Given the description of an element on the screen output the (x, y) to click on. 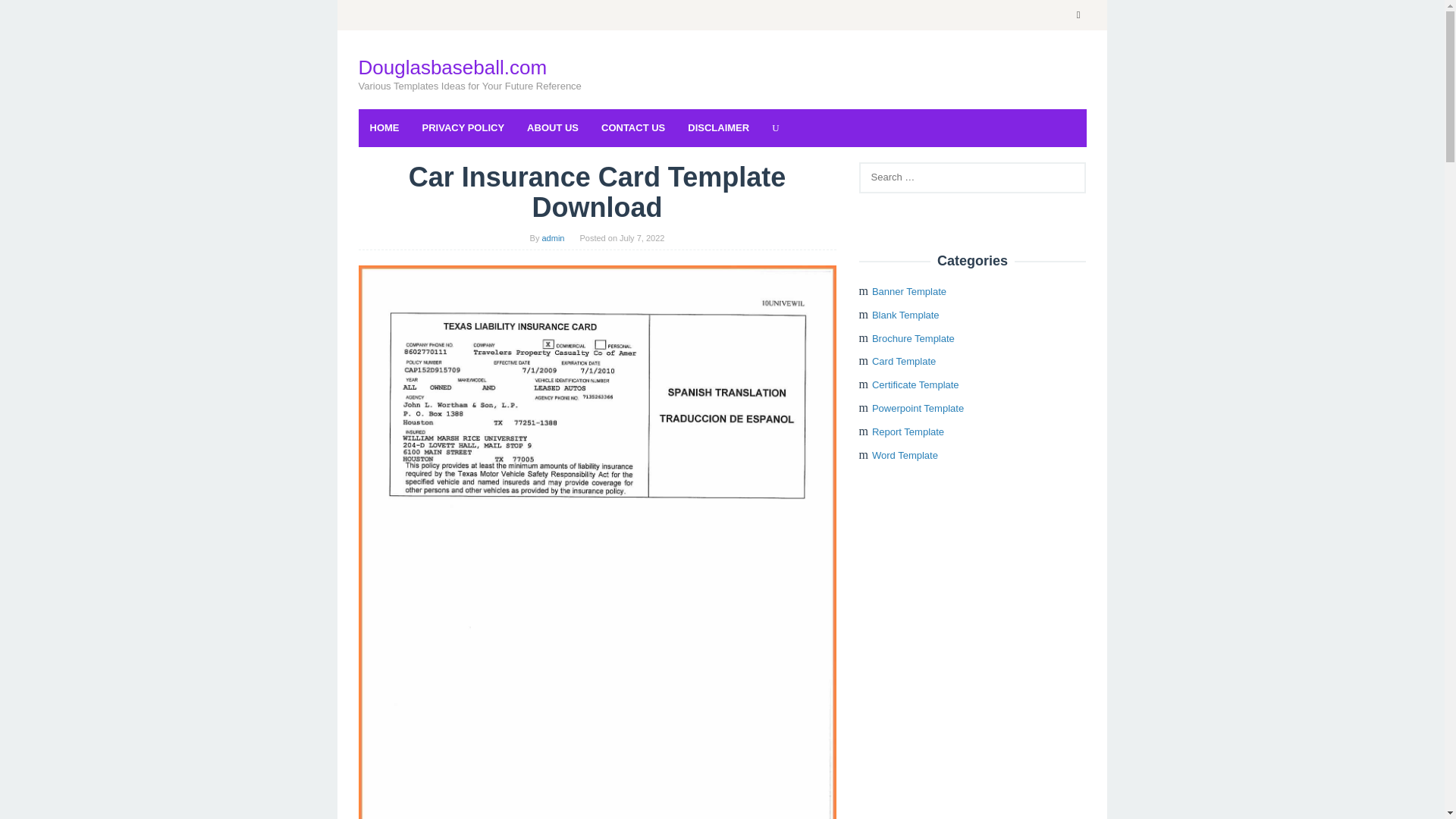
HOME (384, 127)
DISCLAIMER (718, 127)
admin (552, 237)
ABOUT US (552, 127)
Douglasbaseball.com (452, 67)
Permalink to: admin (552, 237)
RSS (1078, 15)
CONTACT US (633, 127)
Douglasbaseball.com (452, 67)
PRIVACY POLICY (463, 127)
